Given the description of an element on the screen output the (x, y) to click on. 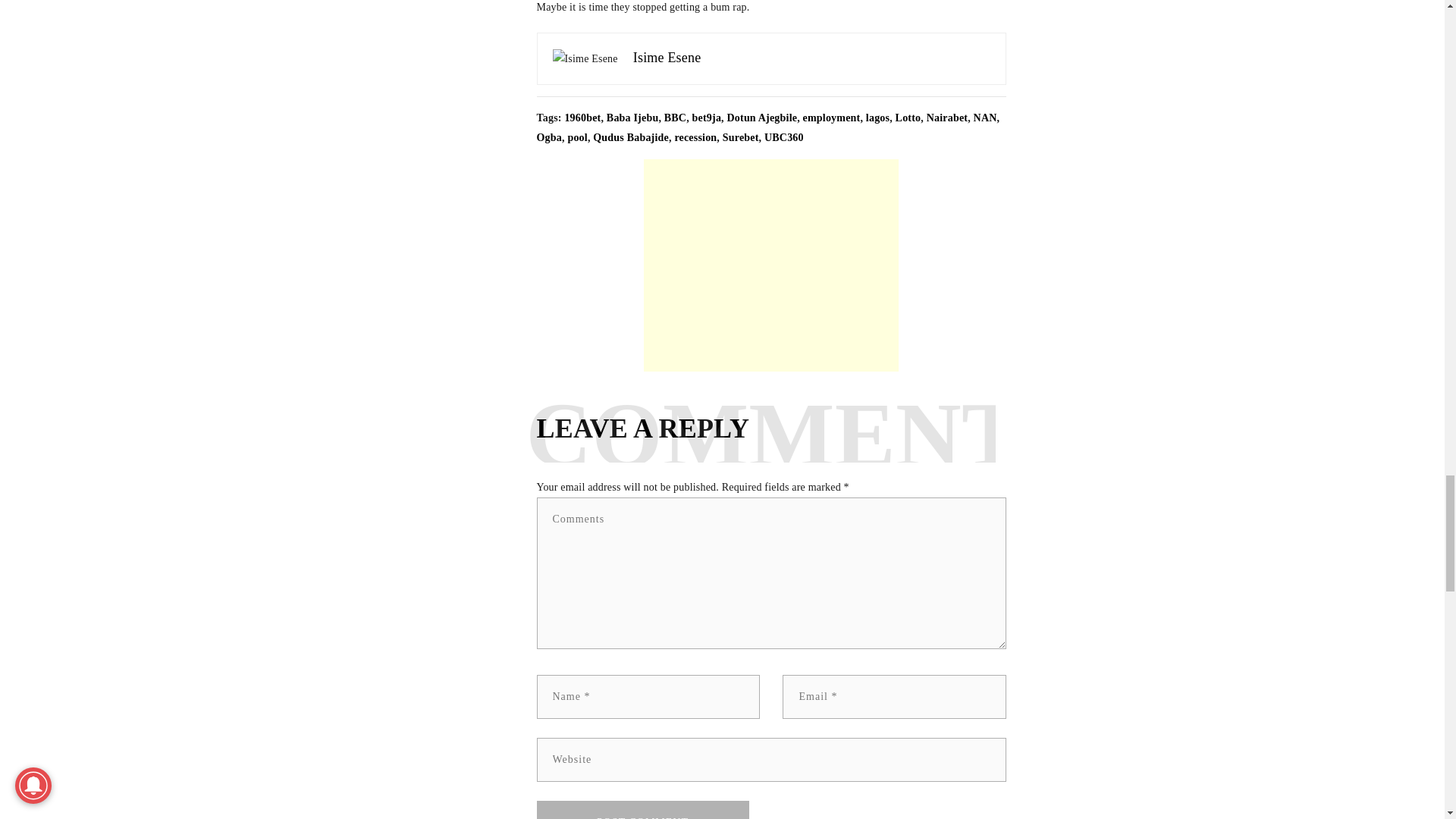
Post Comment (643, 809)
